Given the description of an element on the screen output the (x, y) to click on. 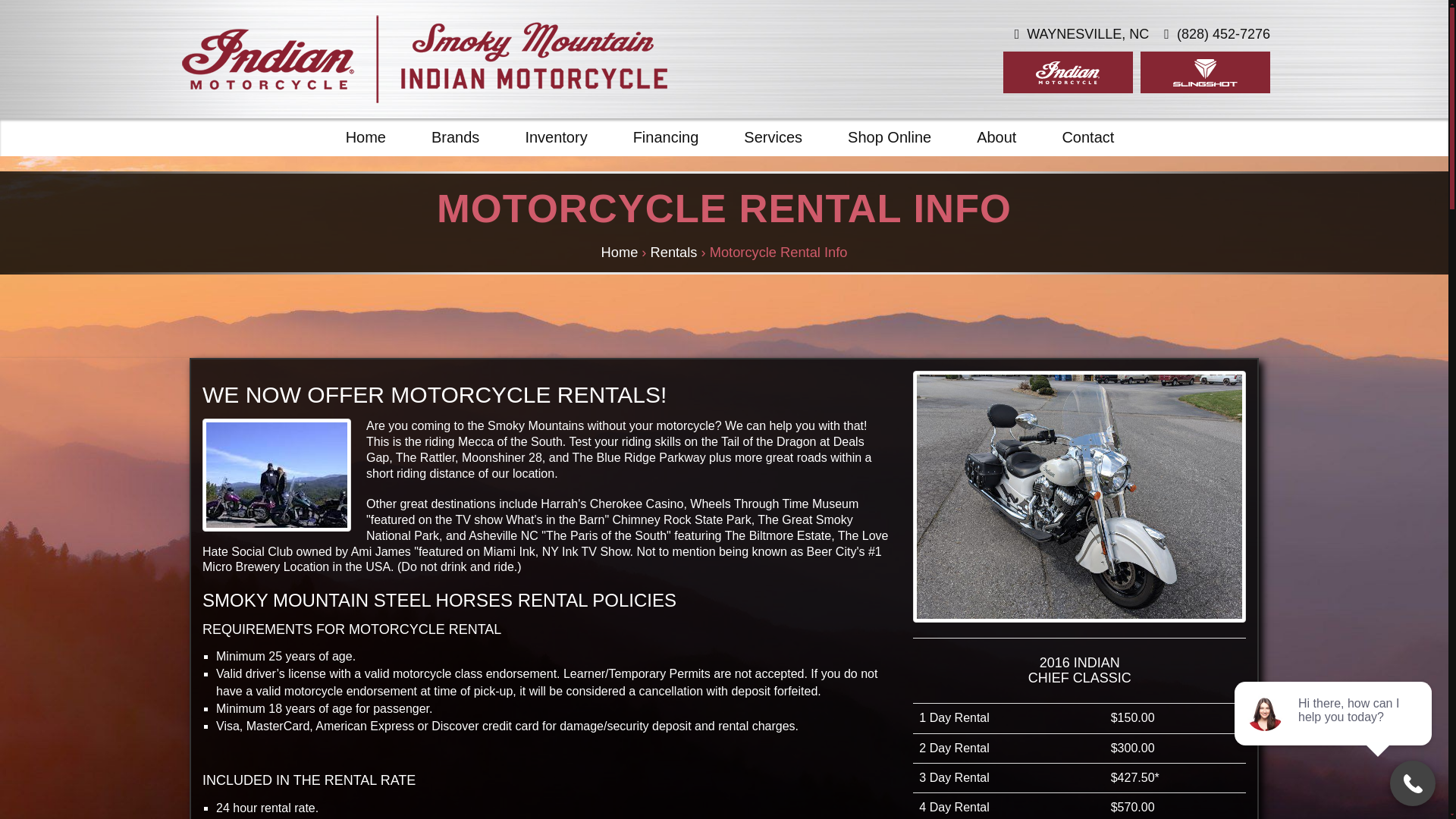
Brands (455, 137)
Inventory (555, 137)
About (996, 137)
Powered by DX1 (1206, 792)
SmokyMountainSH (424, 59)
Services (772, 137)
WAYNESVILLE, NC (1082, 35)
SmokyMountainSH (723, 698)
Financing (665, 137)
Home (365, 137)
Shop Online (888, 137)
